Given the description of an element on the screen output the (x, y) to click on. 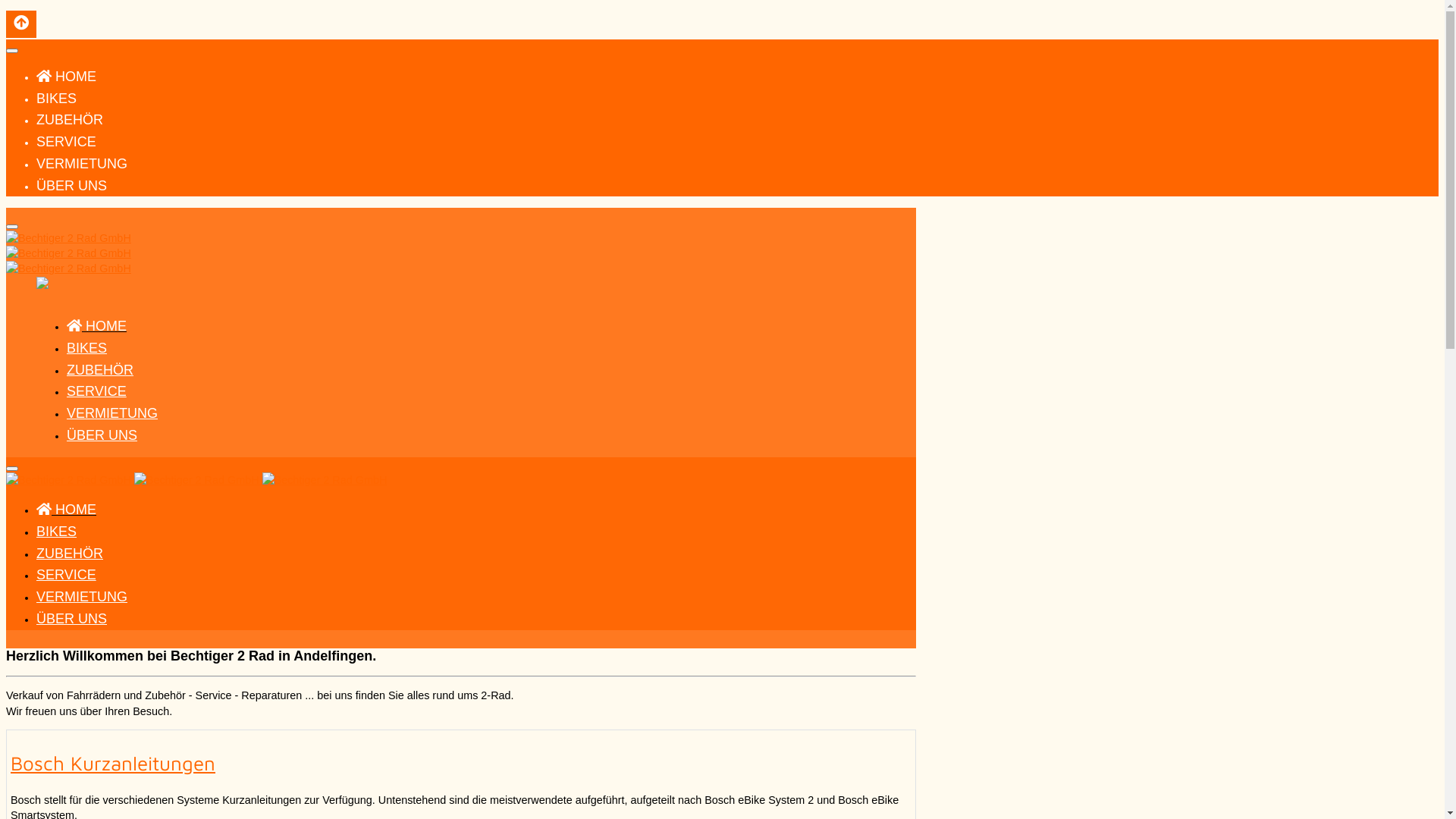
SERVICE Element type: text (96, 390)
BIKES Element type: text (86, 347)
VERMIETUNG Element type: text (81, 163)
VERMIETUNG Element type: text (81, 596)
VERMIETUNG Element type: text (111, 412)
Bosch Kurzanleitungen Element type: text (112, 762)
SERVICE Element type: text (66, 574)
HOME Element type: text (96, 325)
BIKES Element type: text (56, 98)
HOME Element type: text (66, 76)
Back to Top Element type: hover (21, 23)
HOME Element type: text (66, 509)
SERVICE Element type: text (66, 141)
BIKES Element type: text (56, 531)
